Given the description of an element on the screen output the (x, y) to click on. 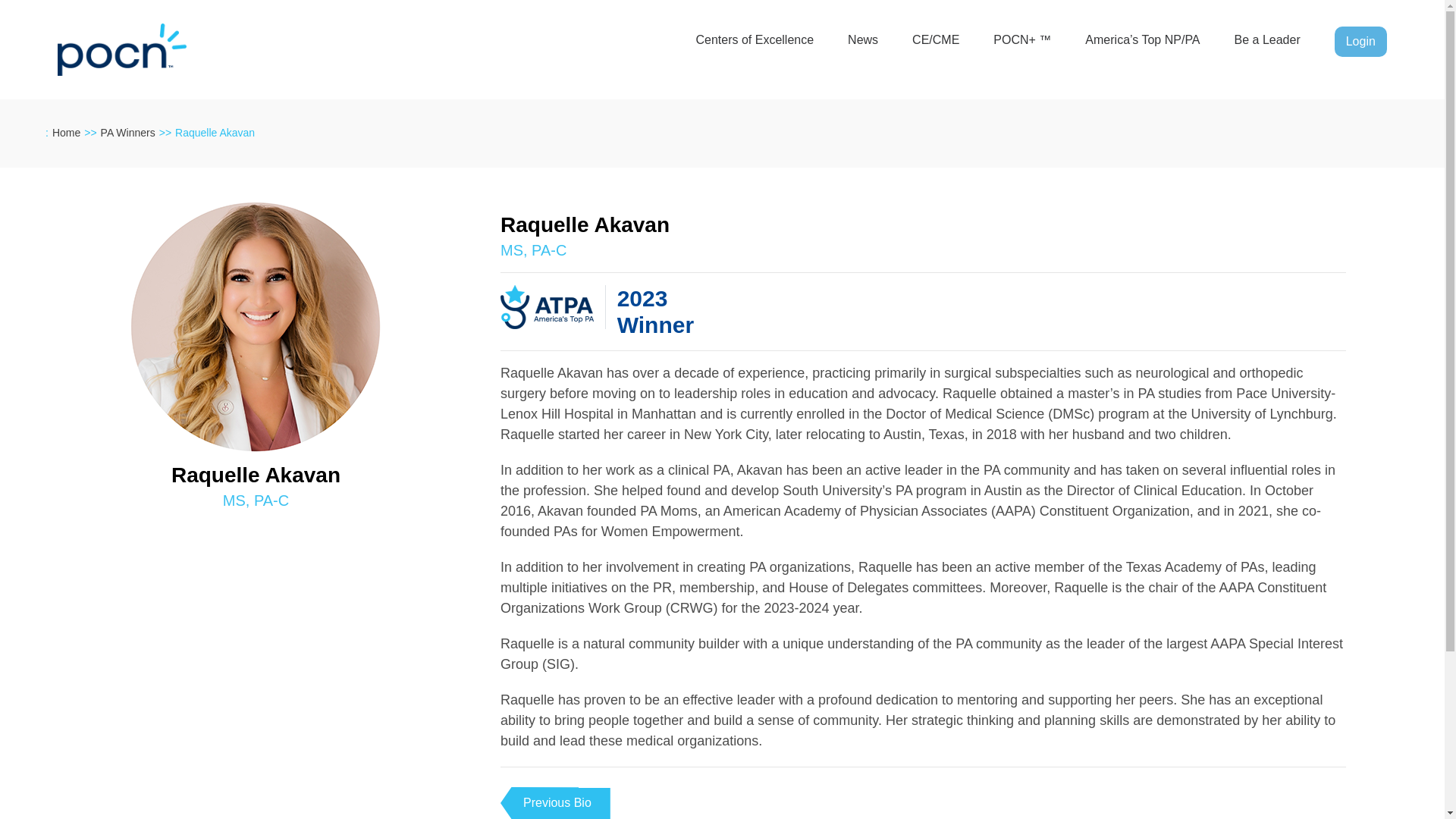
Centers of Excellence (754, 41)
PA Winners (127, 132)
Be a Leader (1267, 41)
News (862, 41)
Previous Bio (555, 803)
Login (1361, 41)
Home (66, 132)
